Given the description of an element on the screen output the (x, y) to click on. 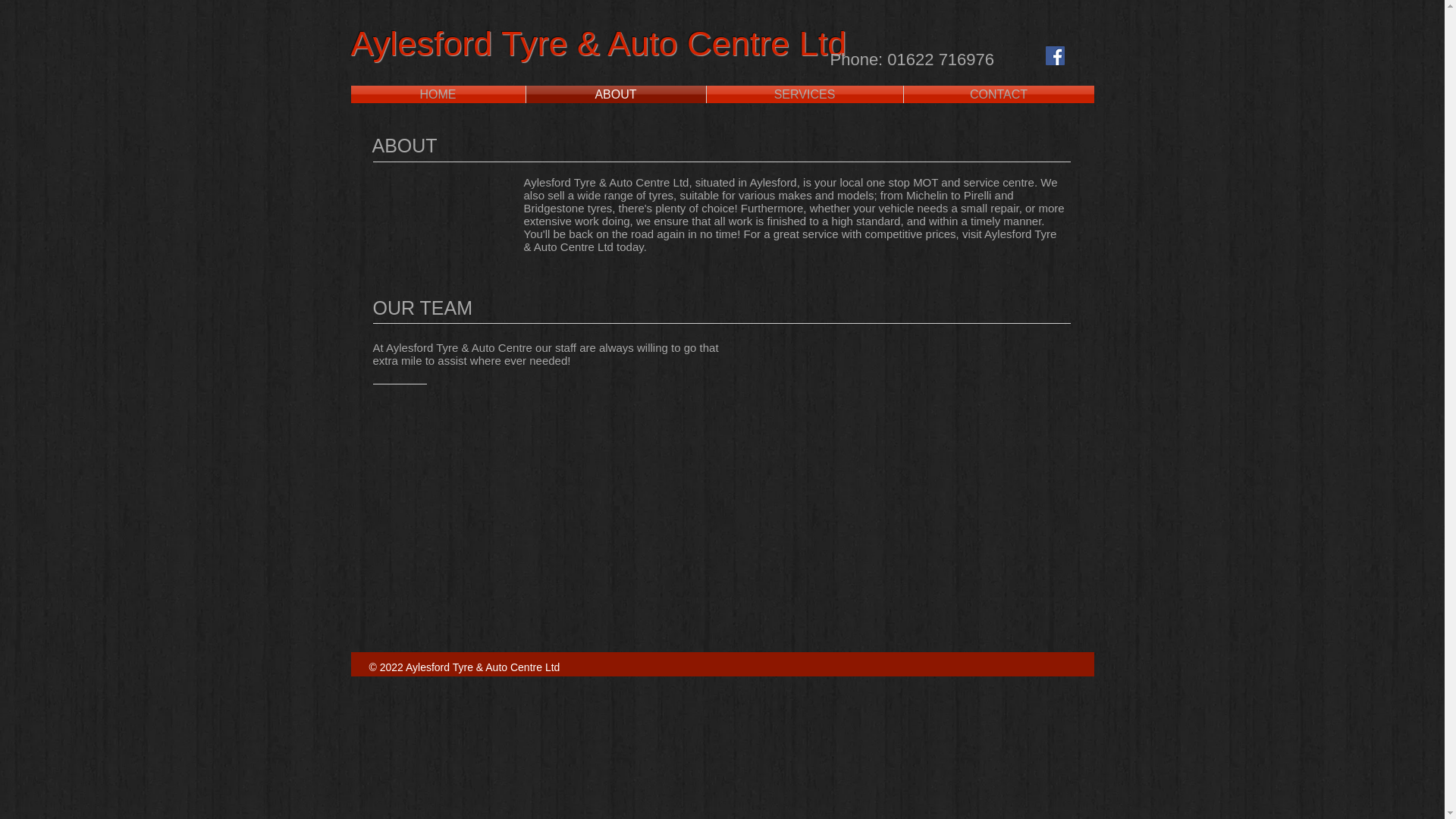
ABOUT (615, 94)
HOME (437, 94)
CONTACT (999, 94)
SERVICES (804, 94)
